Given the description of an element on the screen output the (x, y) to click on. 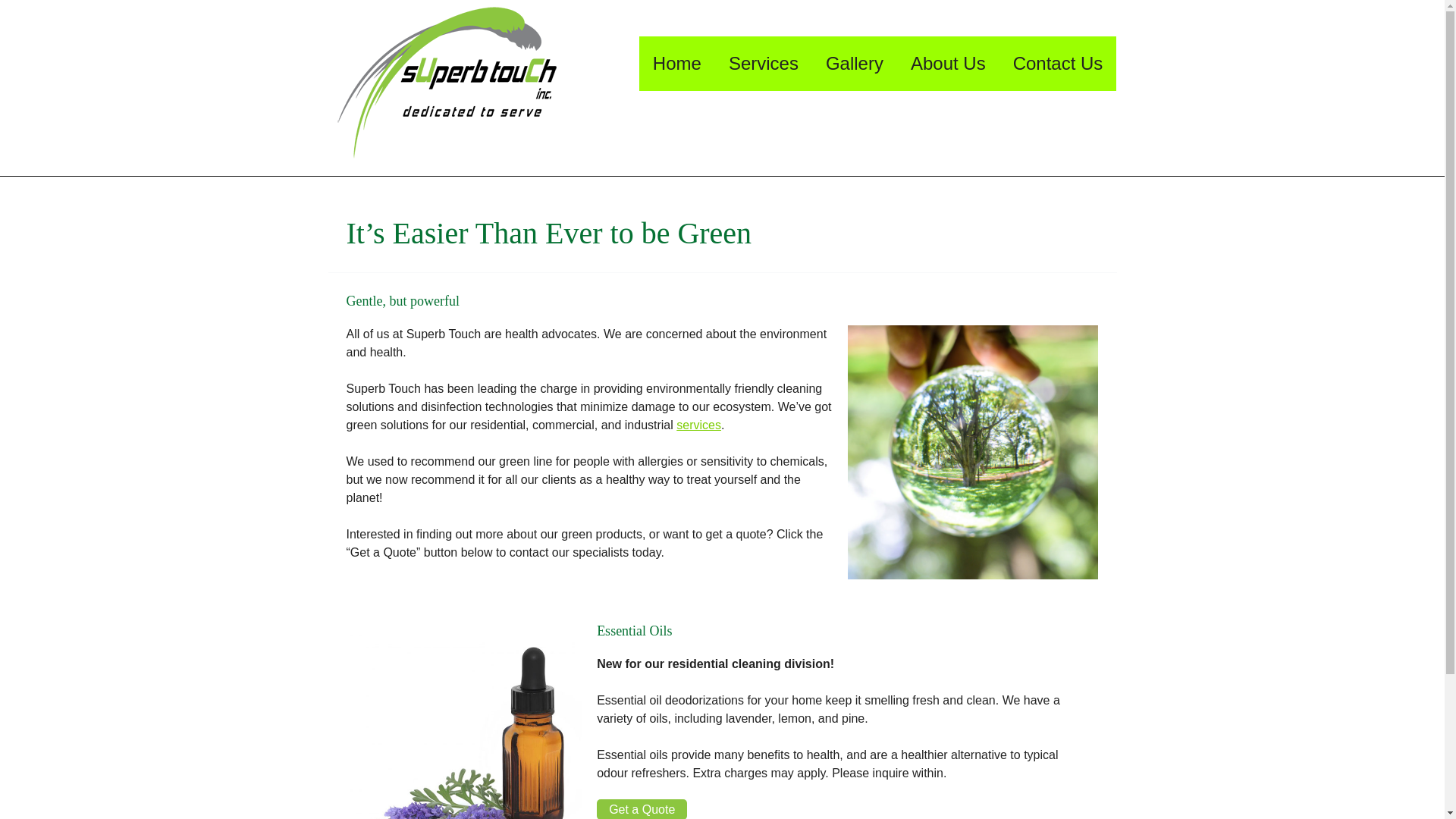
Contact Us (1057, 63)
About Us (947, 63)
Services (763, 63)
Home (676, 63)
Get a Quote (641, 809)
services (698, 424)
Gallery (854, 63)
